Given the description of an element on the screen output the (x, y) to click on. 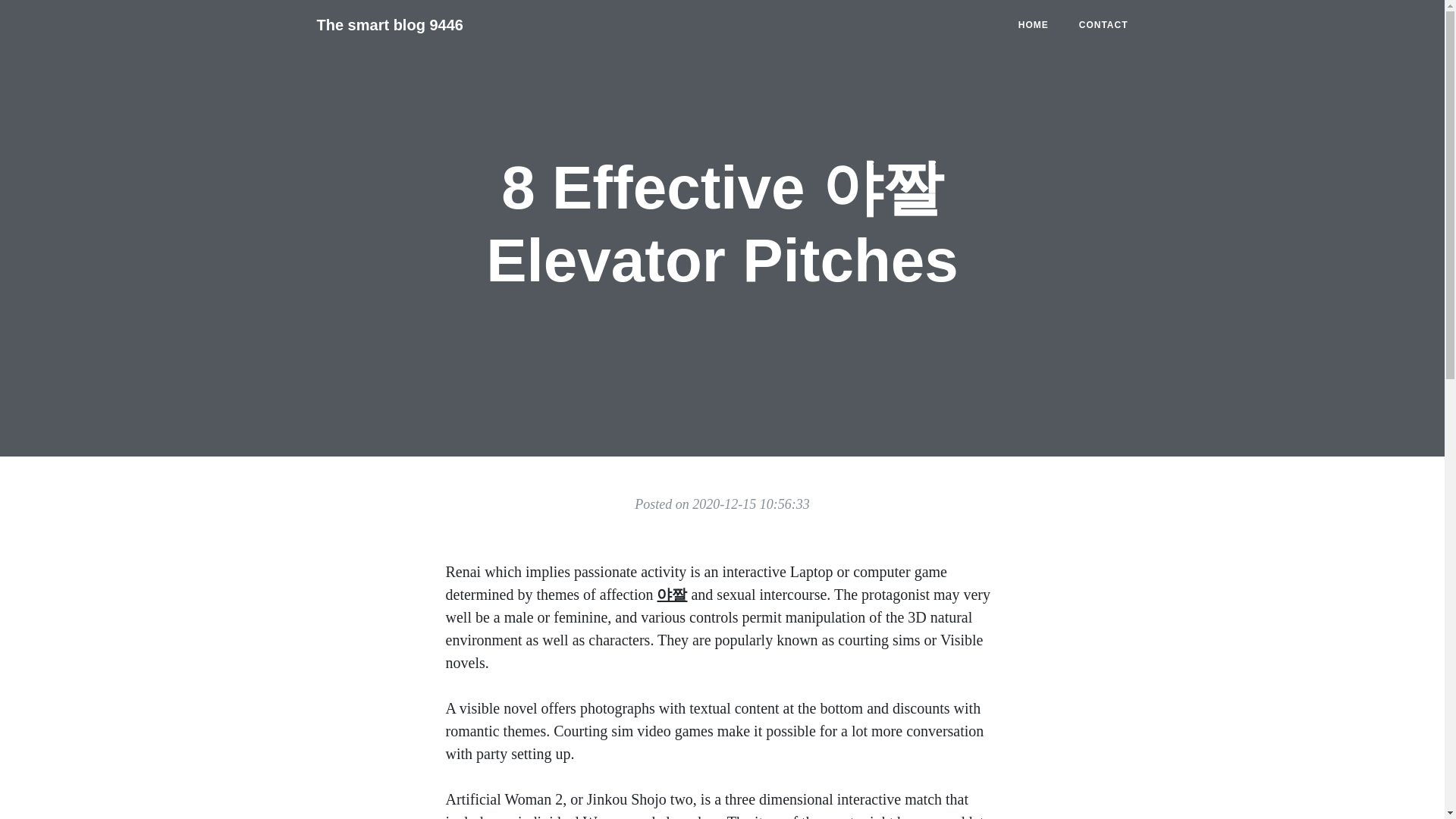
The smart blog 9446 (390, 24)
CONTACT (1103, 24)
HOME (1033, 24)
